Given the description of an element on the screen output the (x, y) to click on. 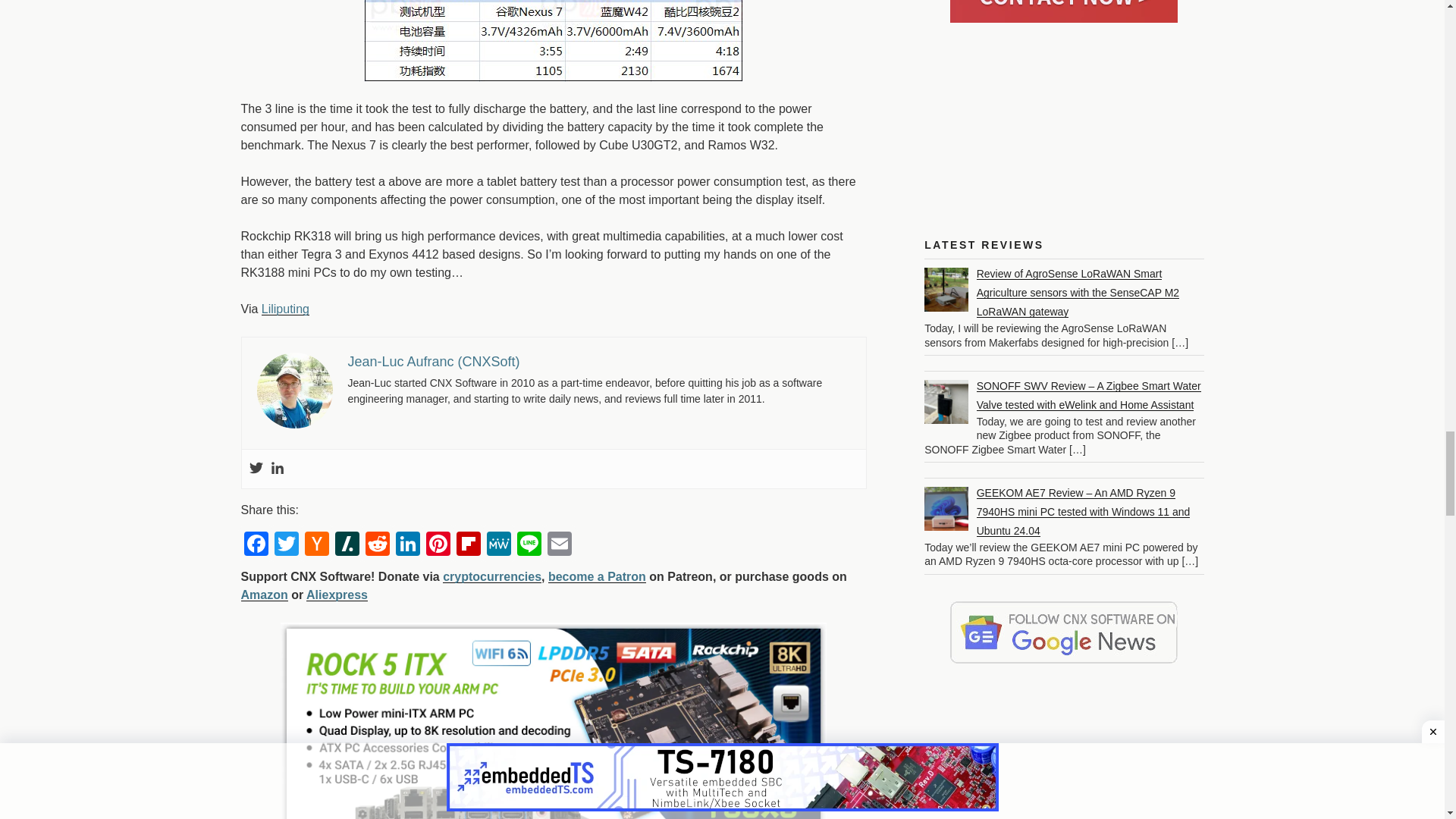
Reddit (377, 543)
Line (528, 543)
Pinterest (437, 543)
Flipboard (467, 543)
MeWe (498, 543)
Slashdot (346, 543)
Facebook (255, 543)
LinkedIn (408, 543)
Hacker News (316, 543)
Email (559, 543)
Twitter (285, 543)
